Given the description of an element on the screen output the (x, y) to click on. 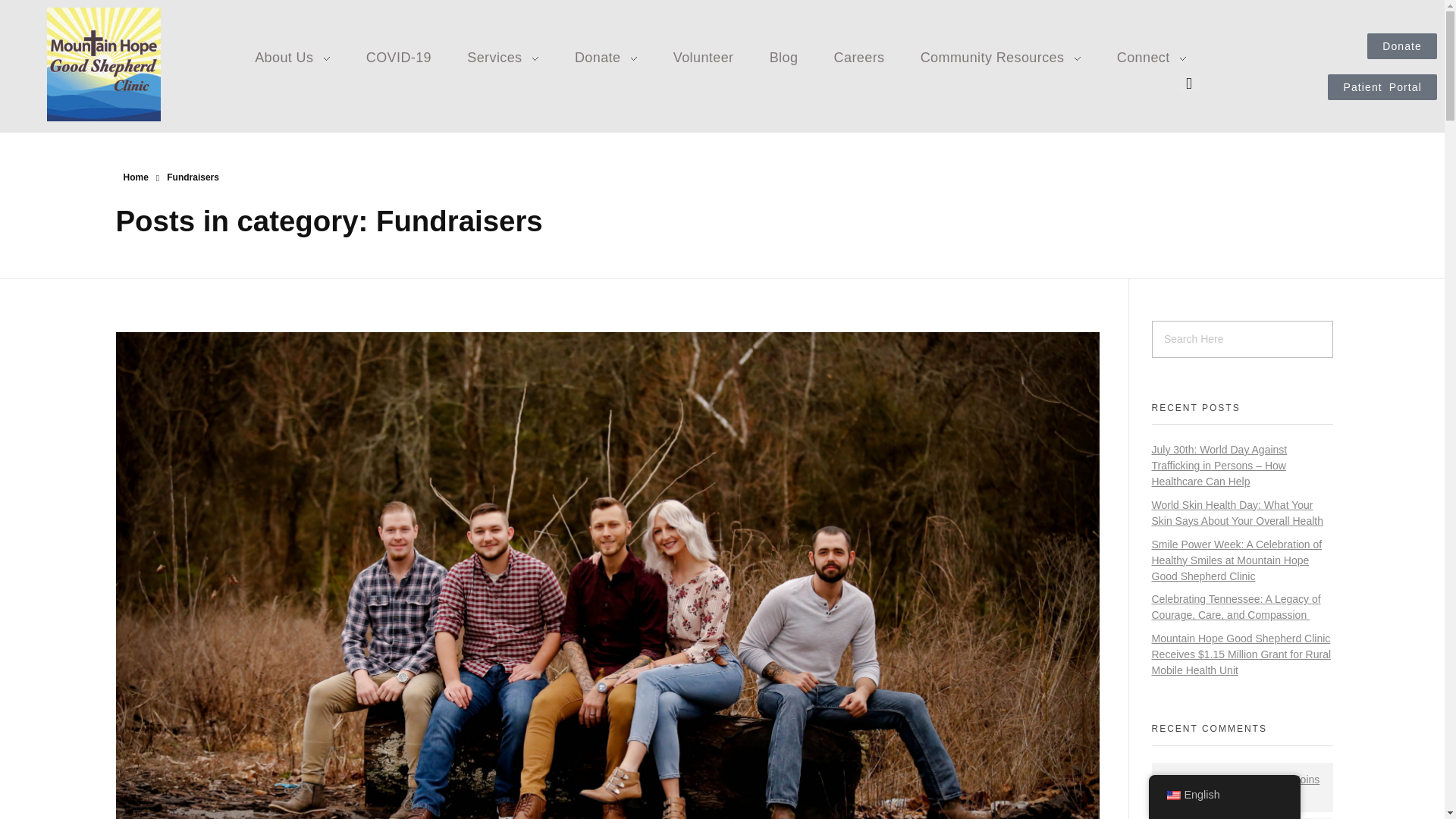
Blog (783, 56)
Connect (1142, 56)
Community Resources (1000, 56)
Patient Portal (1381, 86)
Home (135, 176)
Donate (1402, 45)
Careers (858, 56)
COVID-19 (397, 56)
Donate (605, 56)
Home (135, 176)
Volunteer (703, 56)
